Given the description of an element on the screen output the (x, y) to click on. 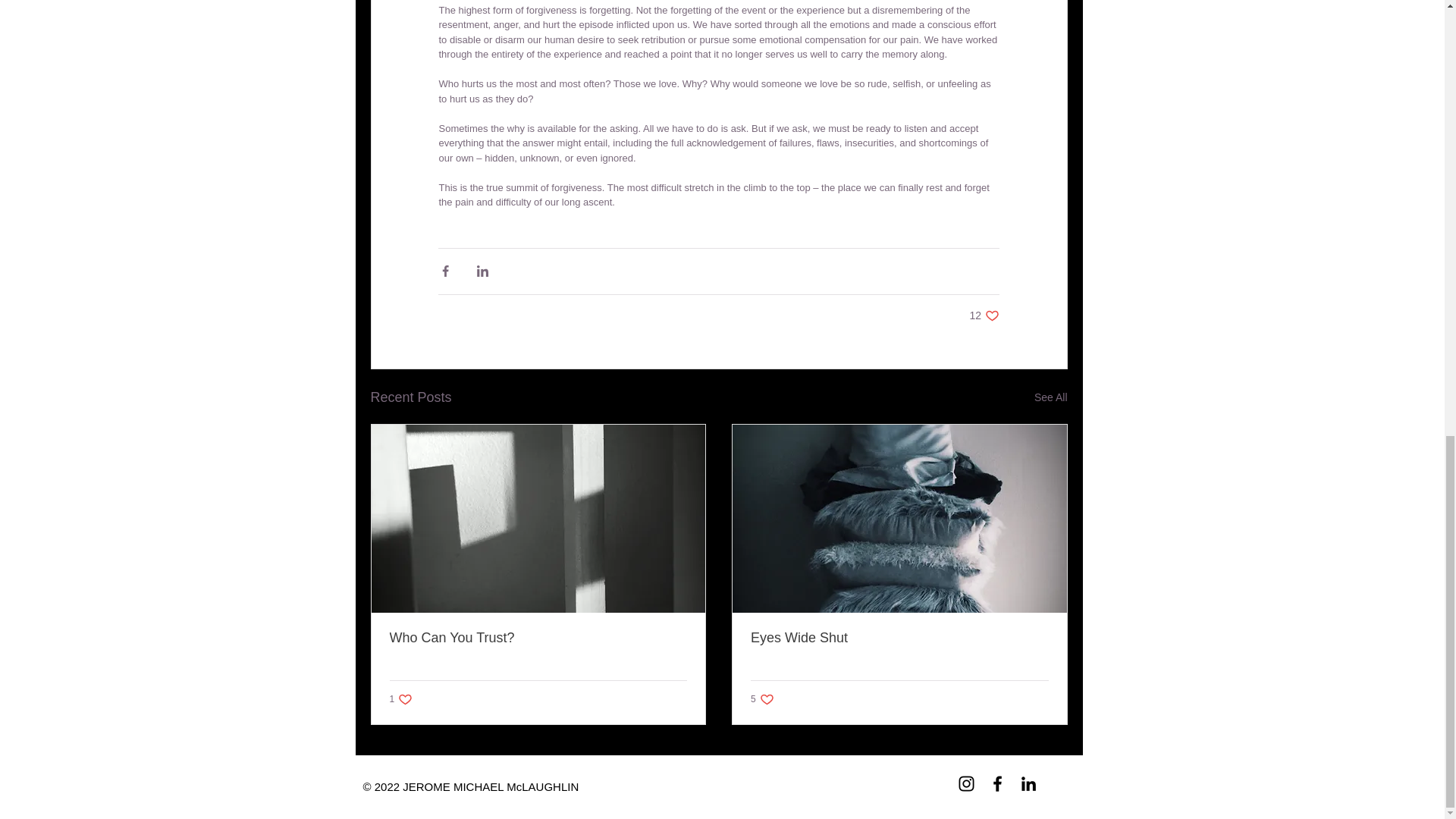
See All (1050, 397)
Who Can You Trust? (983, 314)
Eyes Wide Shut (401, 699)
